Given the description of an element on the screen output the (x, y) to click on. 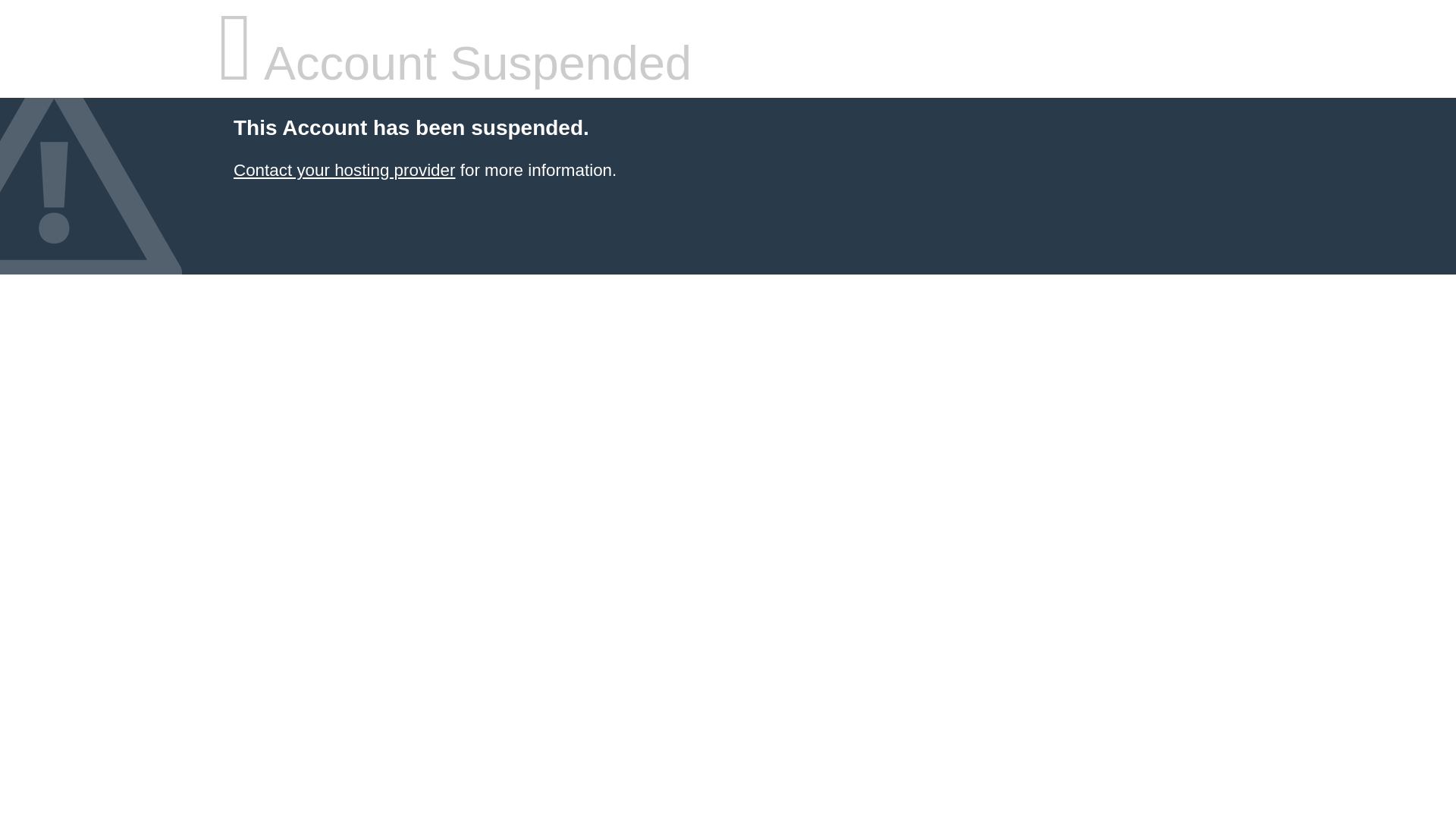
Contact your hosting provider (343, 169)
